Given the description of an element on the screen output the (x, y) to click on. 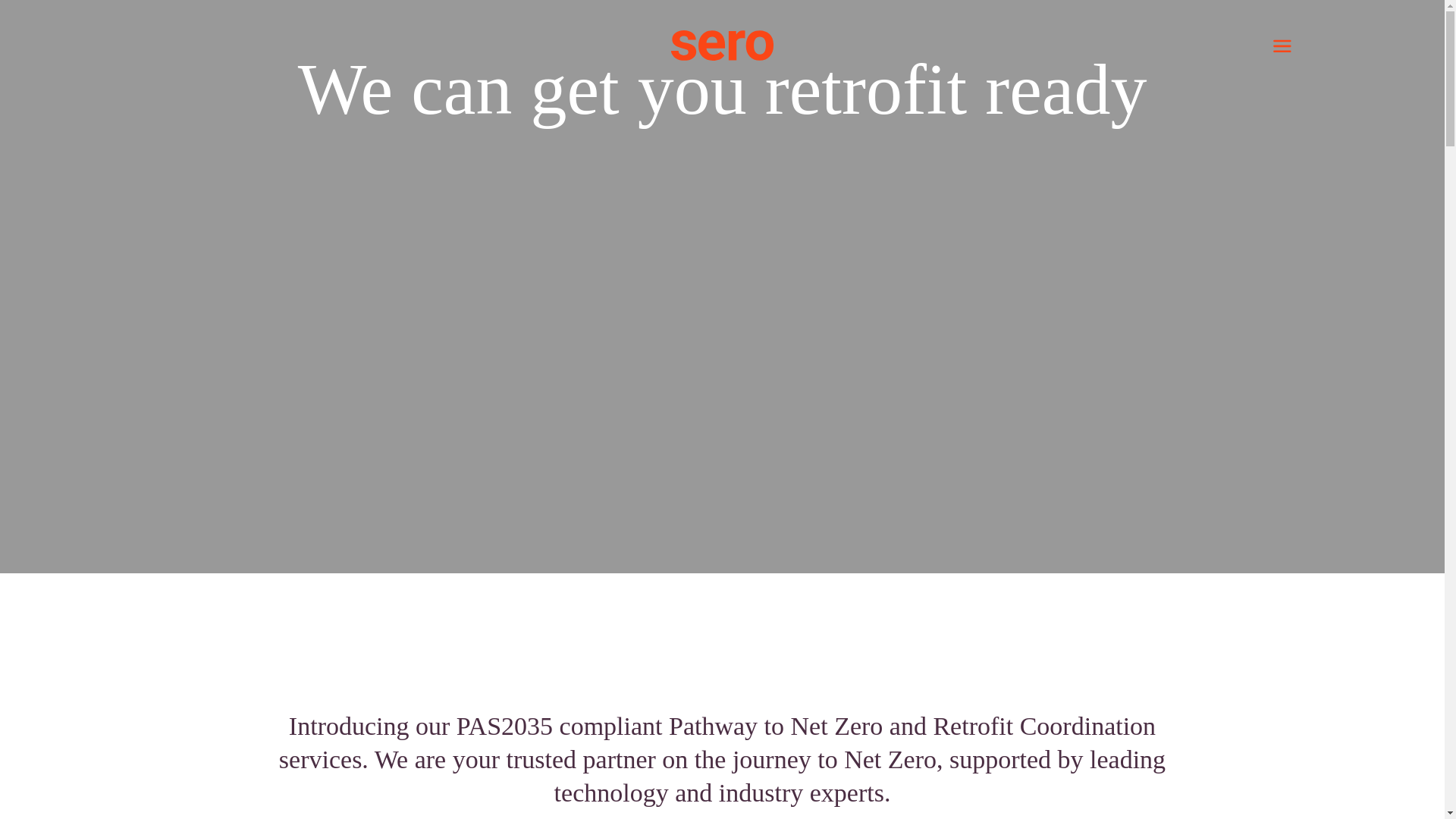
Sero (722, 45)
